Given the description of an element on the screen output the (x, y) to click on. 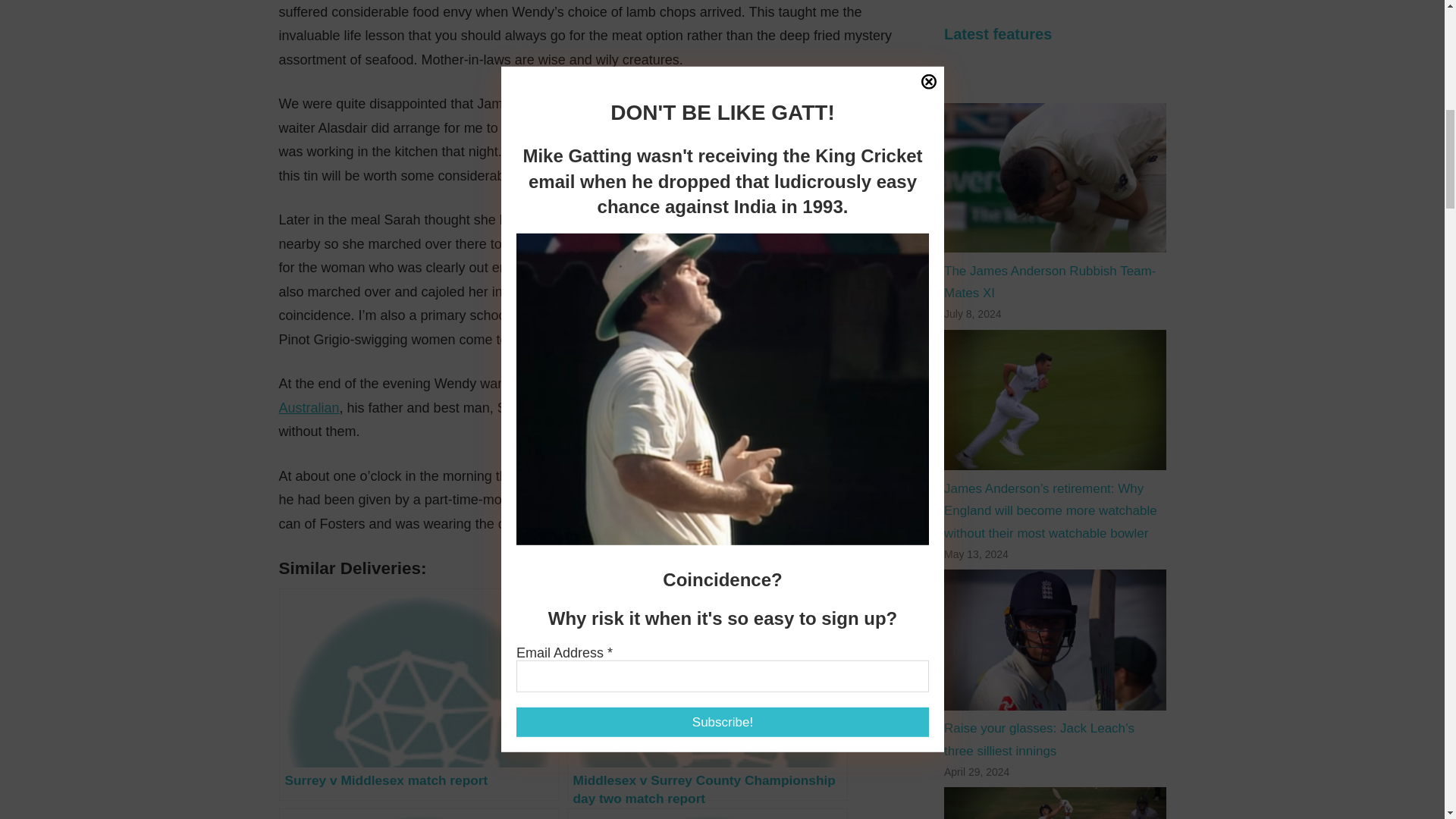
Middlesex v Surrey County Championship day two match report (707, 694)
Middlesex v Surrey Twenty20 match report (419, 813)
Surrey v Middlesex match report (419, 694)
Middlesex v Surrey Twenty20 match report (419, 813)
Middlesex v Glamorgan match report (707, 813)
Middlesex v Glamorgan match report (707, 813)
the Australian (555, 395)
Surrey v Middlesex match report (419, 694)
Middlesex v Surrey County Championship day two match report (707, 694)
